Given the description of an element on the screen output the (x, y) to click on. 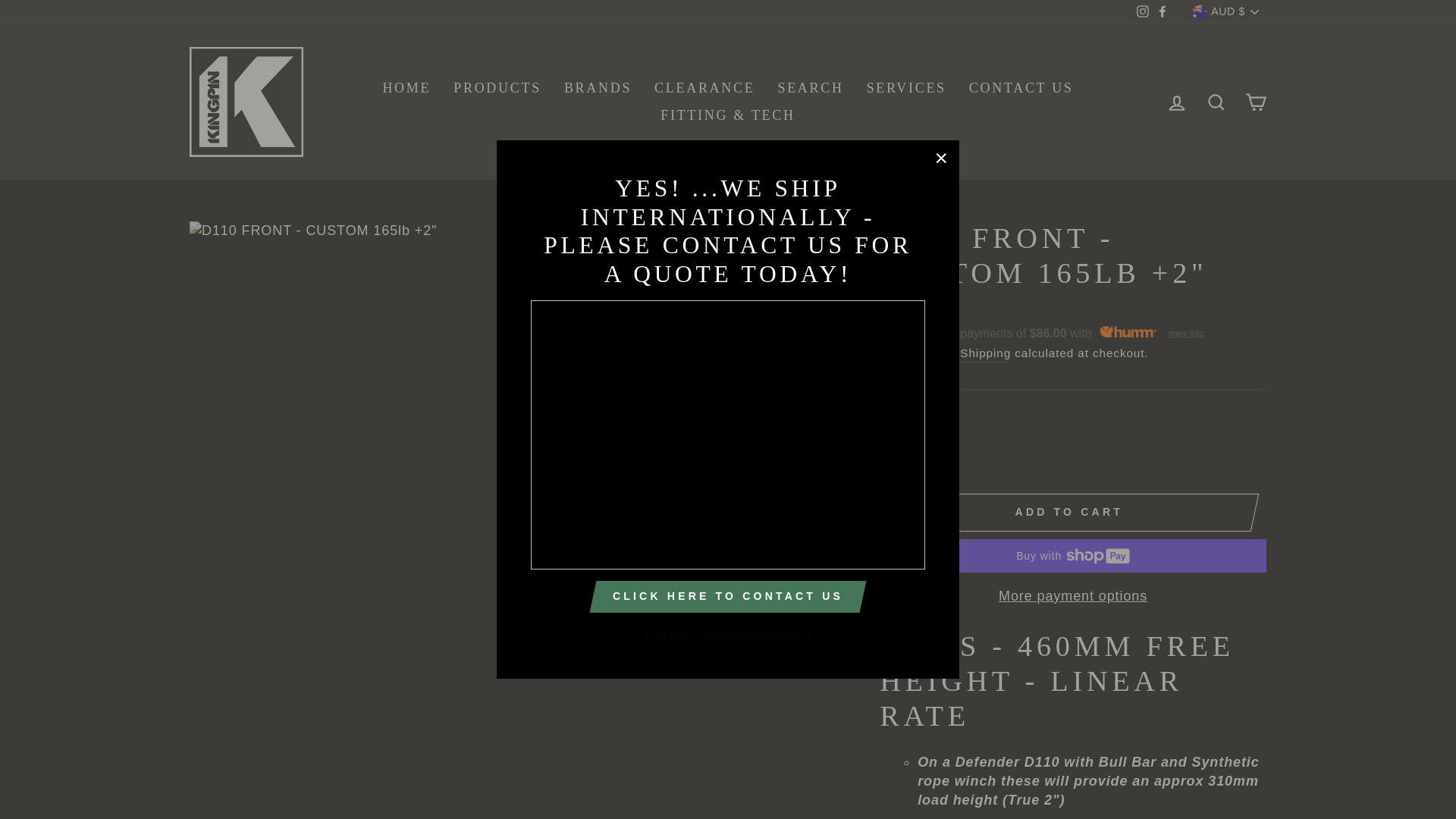
1 (917, 454)
